Given the description of an element on the screen output the (x, y) to click on. 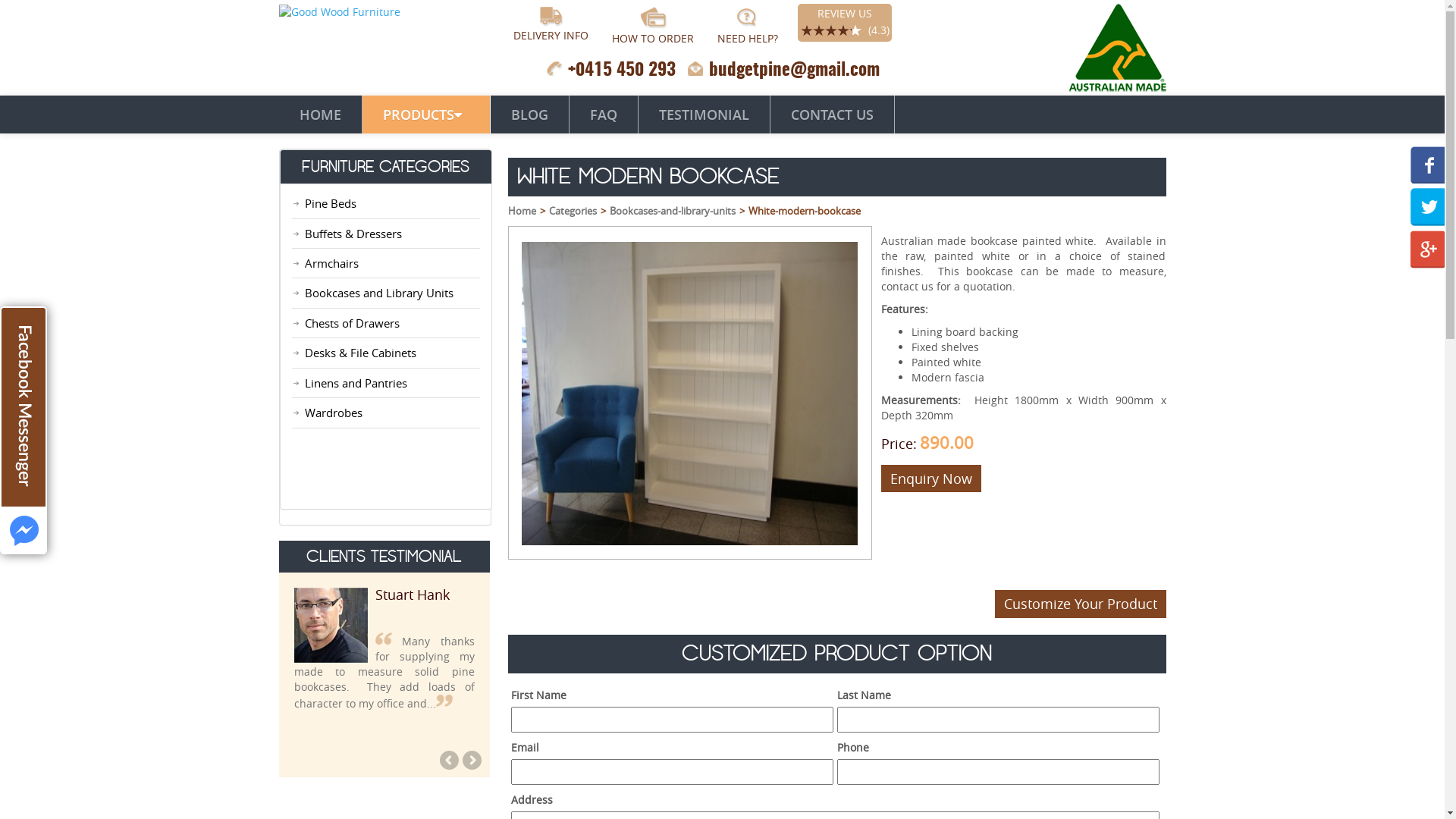
BLOG Element type: text (528, 114)
Enquiry Now Element type: text (931, 478)
DELIVERY INFO Element type: text (549, 35)
Home Element type: text (522, 210)
Desks & File Cabinets Element type: text (360, 352)
Wardrobes Element type: text (333, 412)
Stuart Hank Element type: text (412, 594)
Chests of Drawers Element type: text (351, 322)
Armchairs Element type: text (331, 262)
Bookcases and Library Units Element type: text (378, 292)
TESTIMONIAL Element type: text (704, 114)
Buffets & Dressers Element type: text (352, 233)
Bookcases-and-library-units Element type: text (672, 210)
HOME Element type: text (320, 114)
budgetpine@gmail.com Element type: text (793, 70)
(4.3) Element type: text (876, 29)
Linens and Pantries Element type: text (355, 382)
REVIEW US Element type: text (844, 13)
Pine Beds Element type: text (330, 202)
HOW TO ORDER Element type: text (652, 38)
NEED HELP? Element type: text (747, 38)
Facebook Messenger Element type: text (23, 430)
PRODUCTS Element type: text (426, 114)
Categories Element type: text (572, 210)
FAQ Element type: text (602, 114)
CONTACT US Element type: text (832, 114)
